Given the description of an element on the screen output the (x, y) to click on. 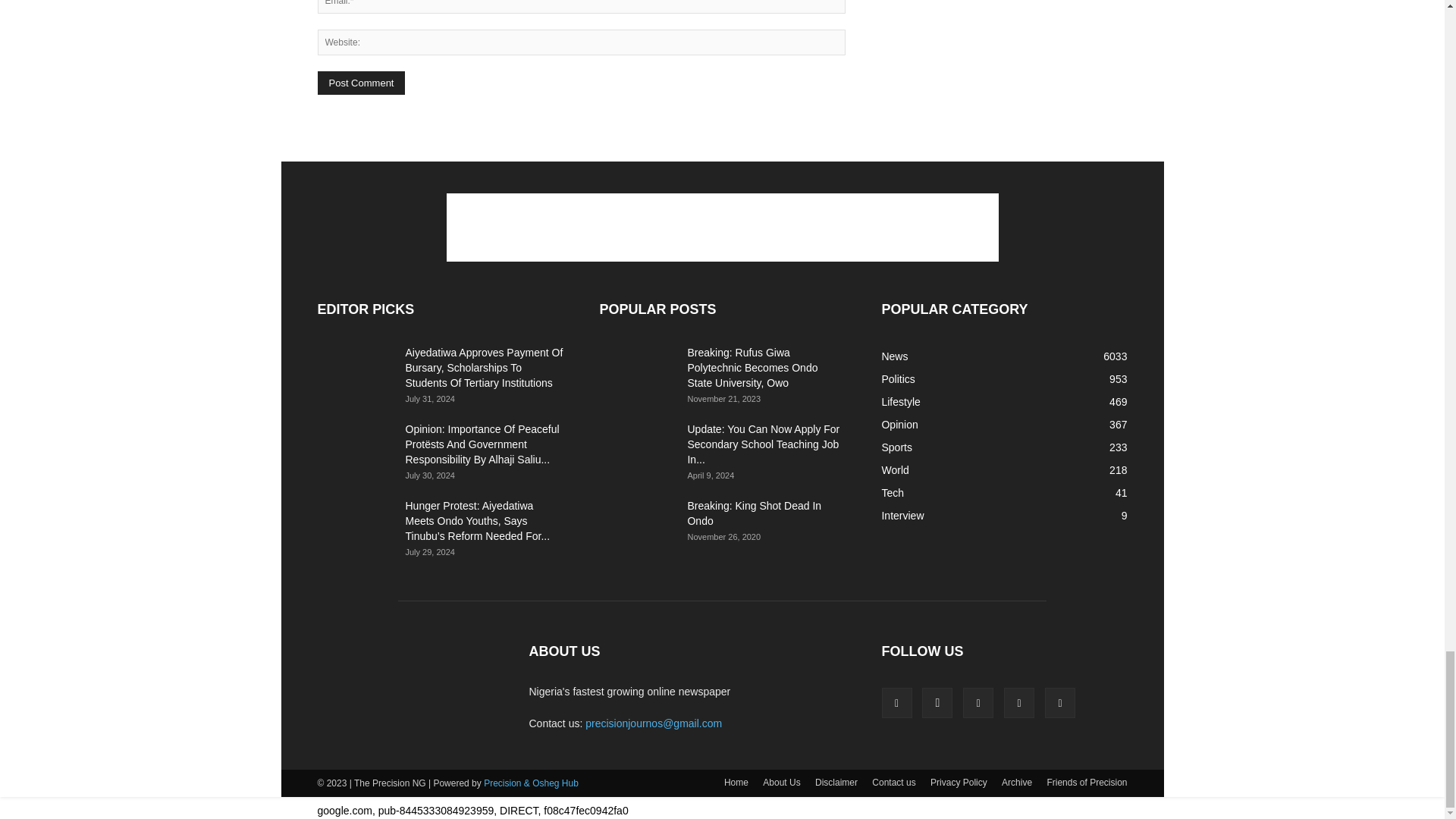
Post Comment (360, 83)
